Given the description of an element on the screen output the (x, y) to click on. 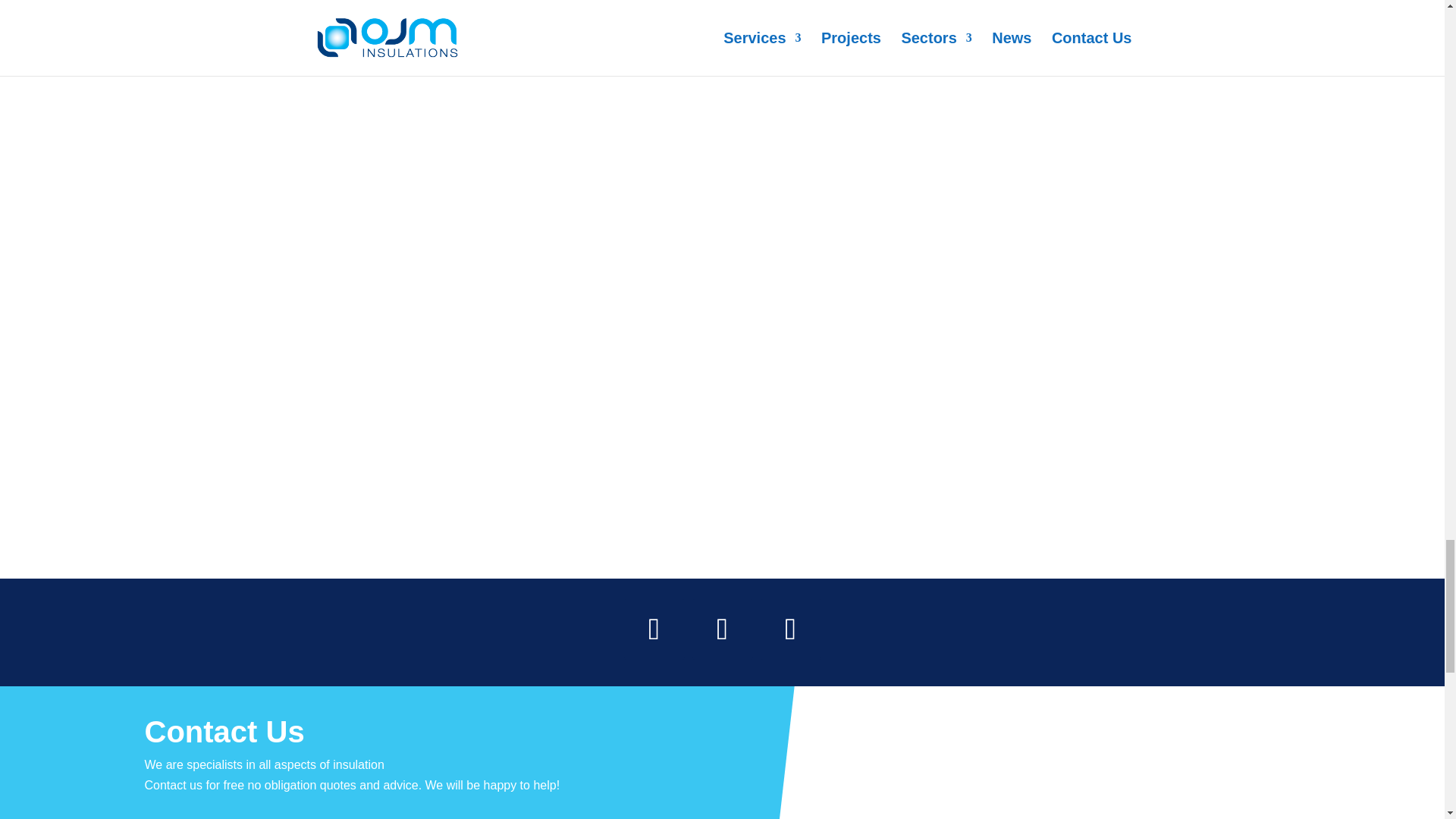
Follow on LinkedIn (790, 629)
Follow on Facebook (653, 629)
Follow on Instagram (721, 629)
